Given the description of an element on the screen output the (x, y) to click on. 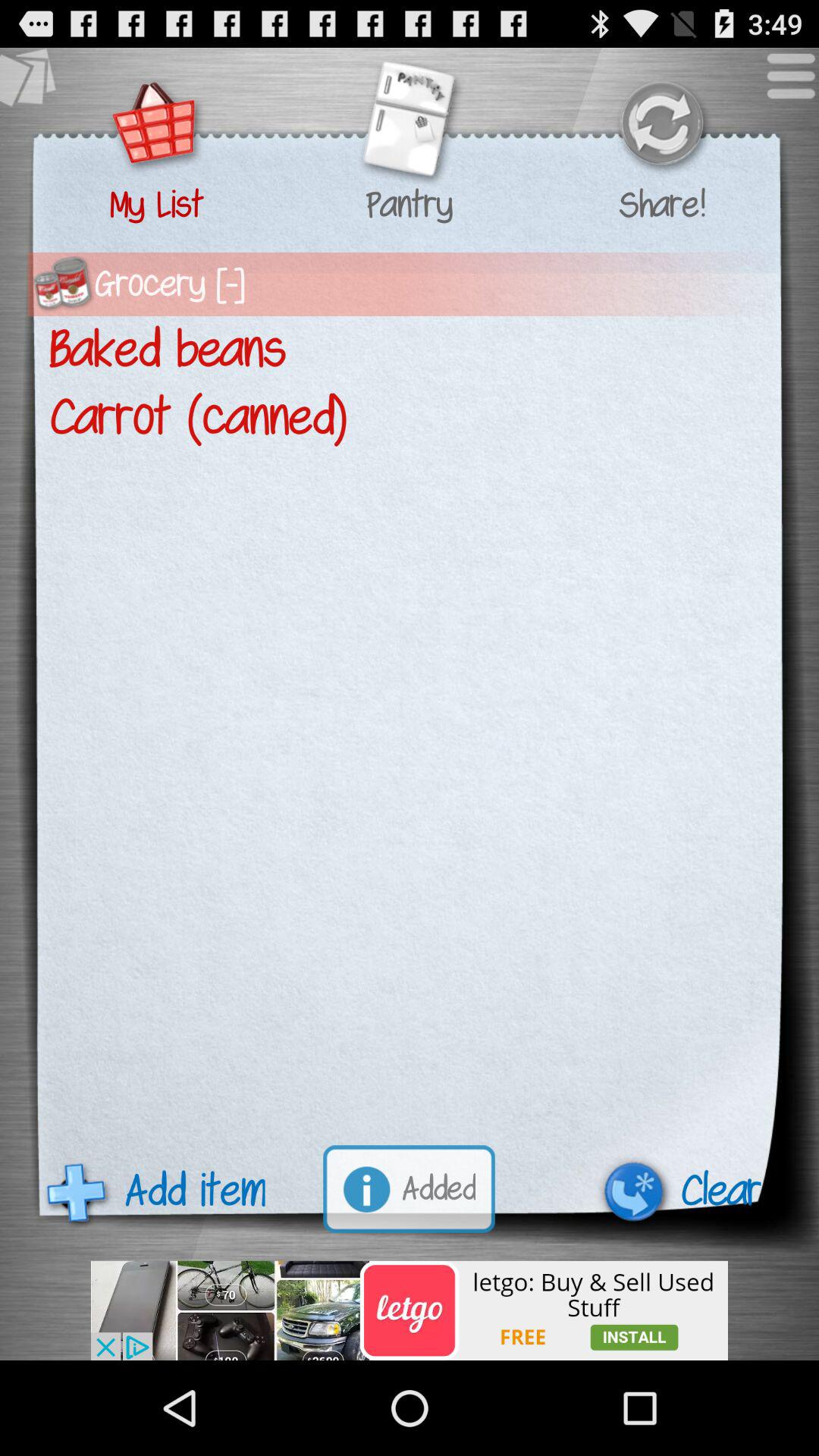
options (783, 83)
